Given the description of an element on the screen output the (x, y) to click on. 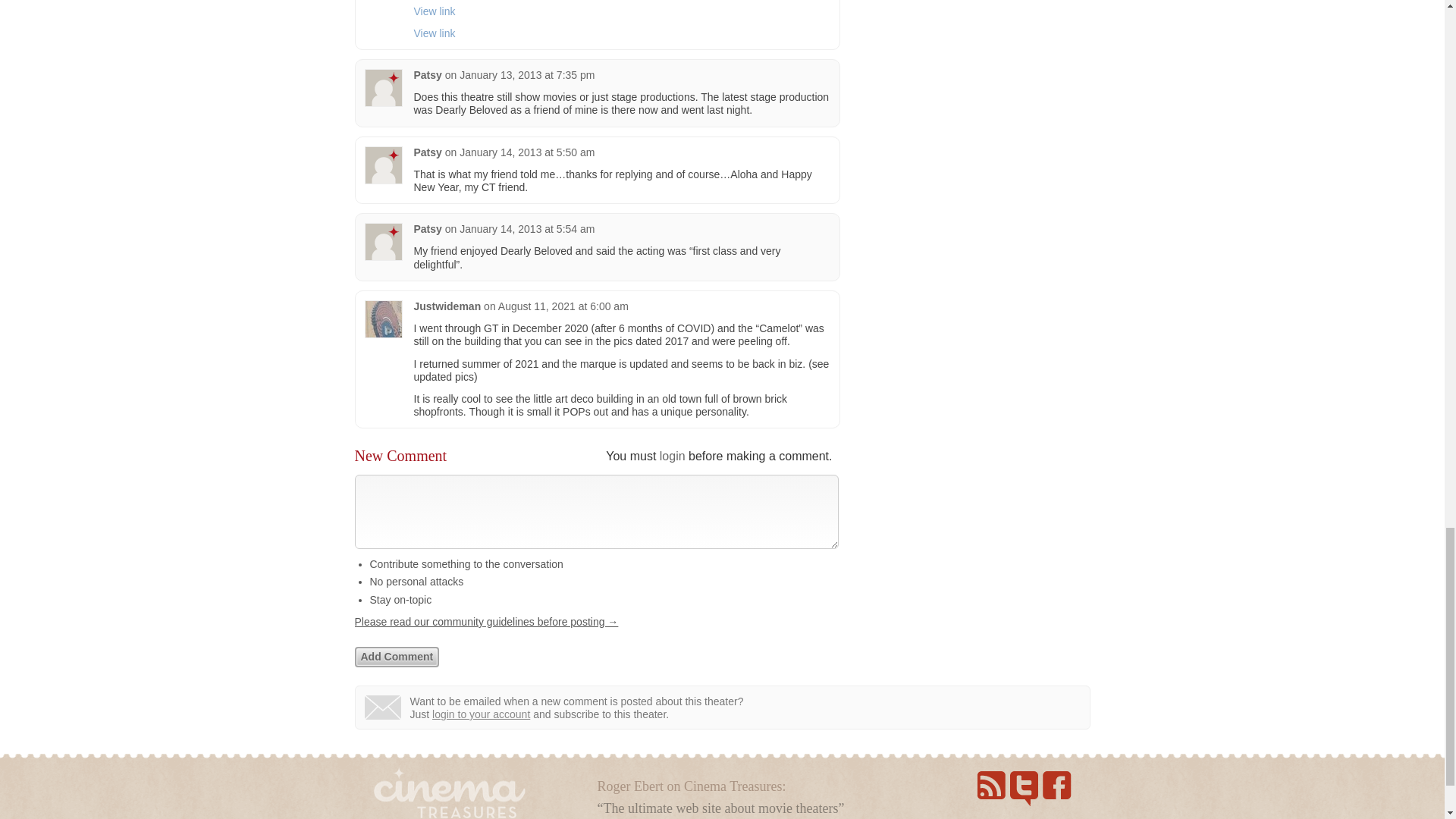
Add Comment (397, 657)
